Given the description of an element on the screen output the (x, y) to click on. 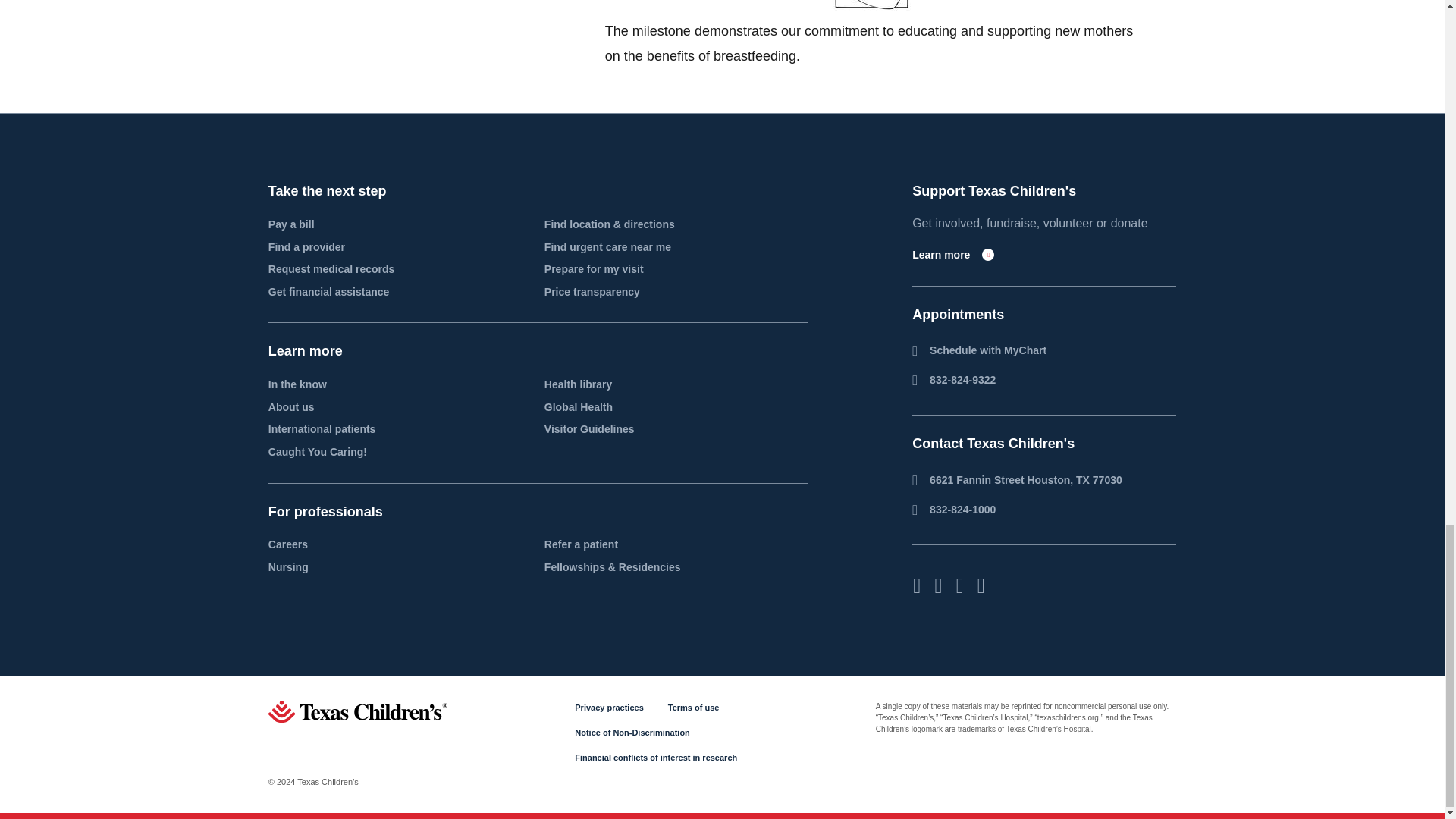
Terms of use (693, 706)
Facebook (916, 585)
Instagram (937, 585)
Financial conflicts of interest in research (655, 757)
Privacy practices (609, 706)
Youtube (980, 585)
Notice of Non-Discrimination (632, 732)
Twitter (959, 585)
